Given the description of an element on the screen output the (x, y) to click on. 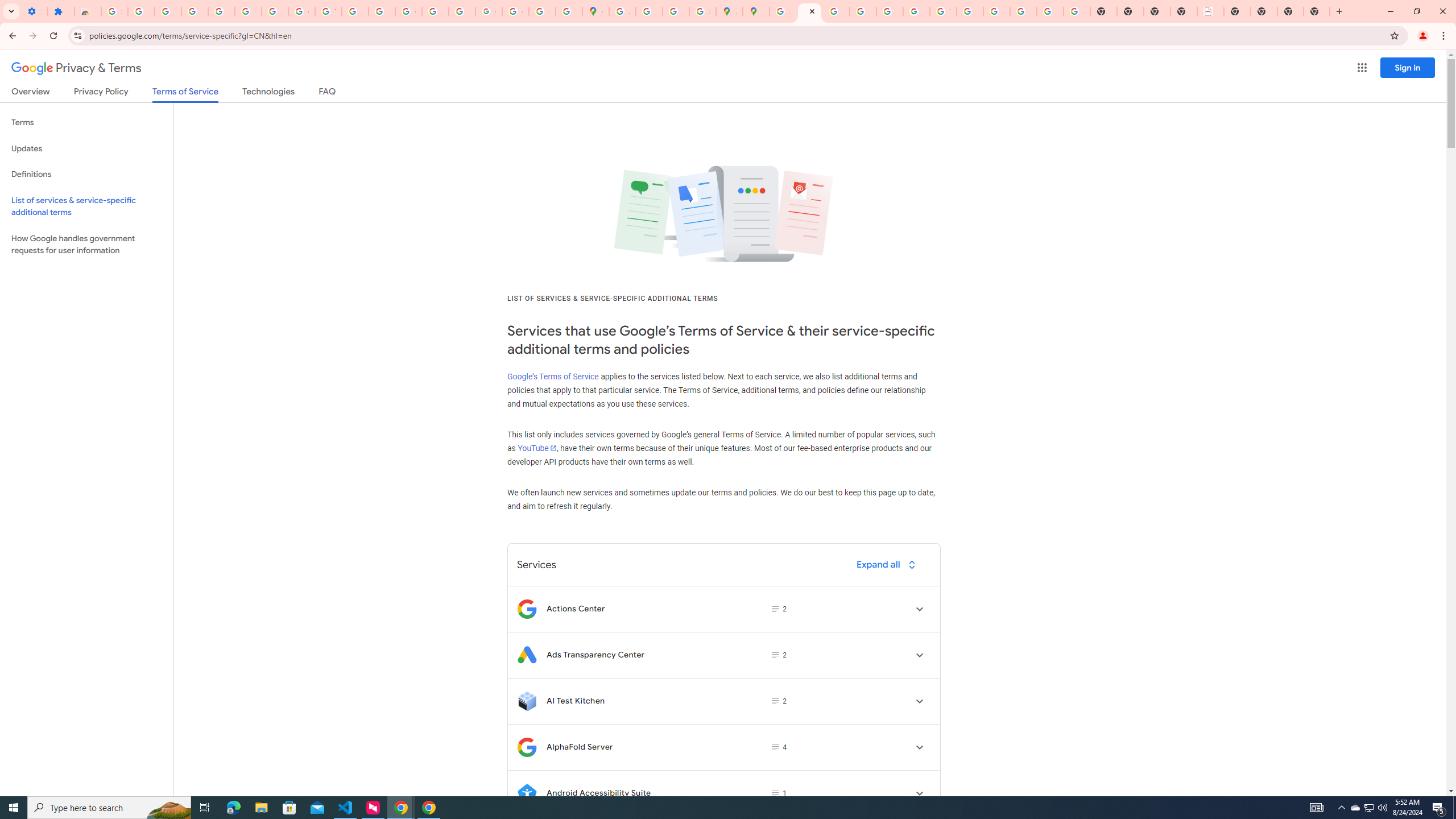
Sign in - Google Accounts (248, 11)
How Google handles government requests for user information (86, 244)
New Tab (1236, 11)
Definitions (86, 174)
LAAD Defence & Security 2025 | BAE Systems (1210, 11)
YouTube (536, 447)
Expand all (888, 564)
